Given the description of an element on the screen output the (x, y) to click on. 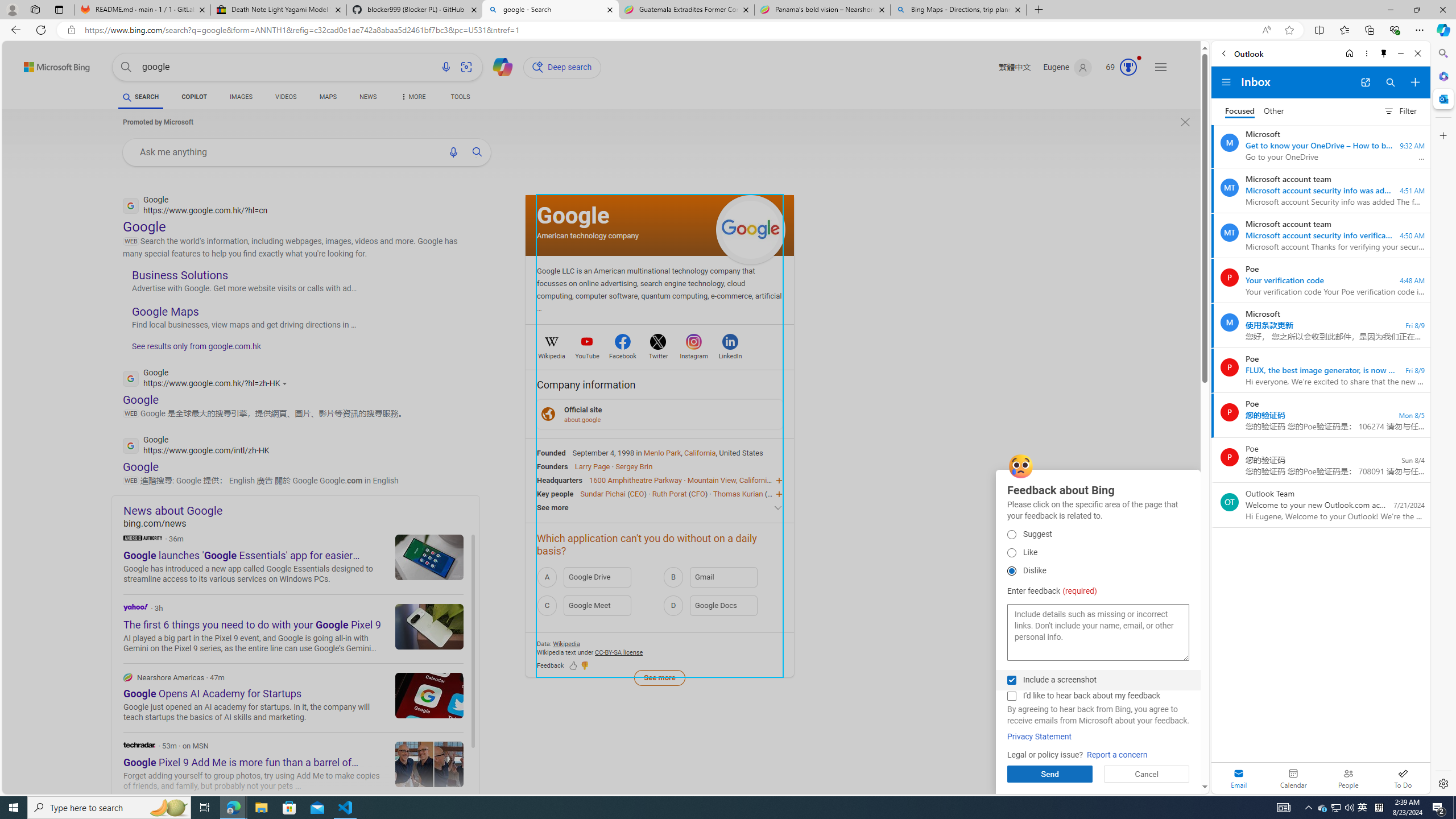
Folder navigation (1225, 82)
Like (1011, 552)
I'd like to hear back about my feedback (1011, 696)
People (1347, 777)
